Given the description of an element on the screen output the (x, y) to click on. 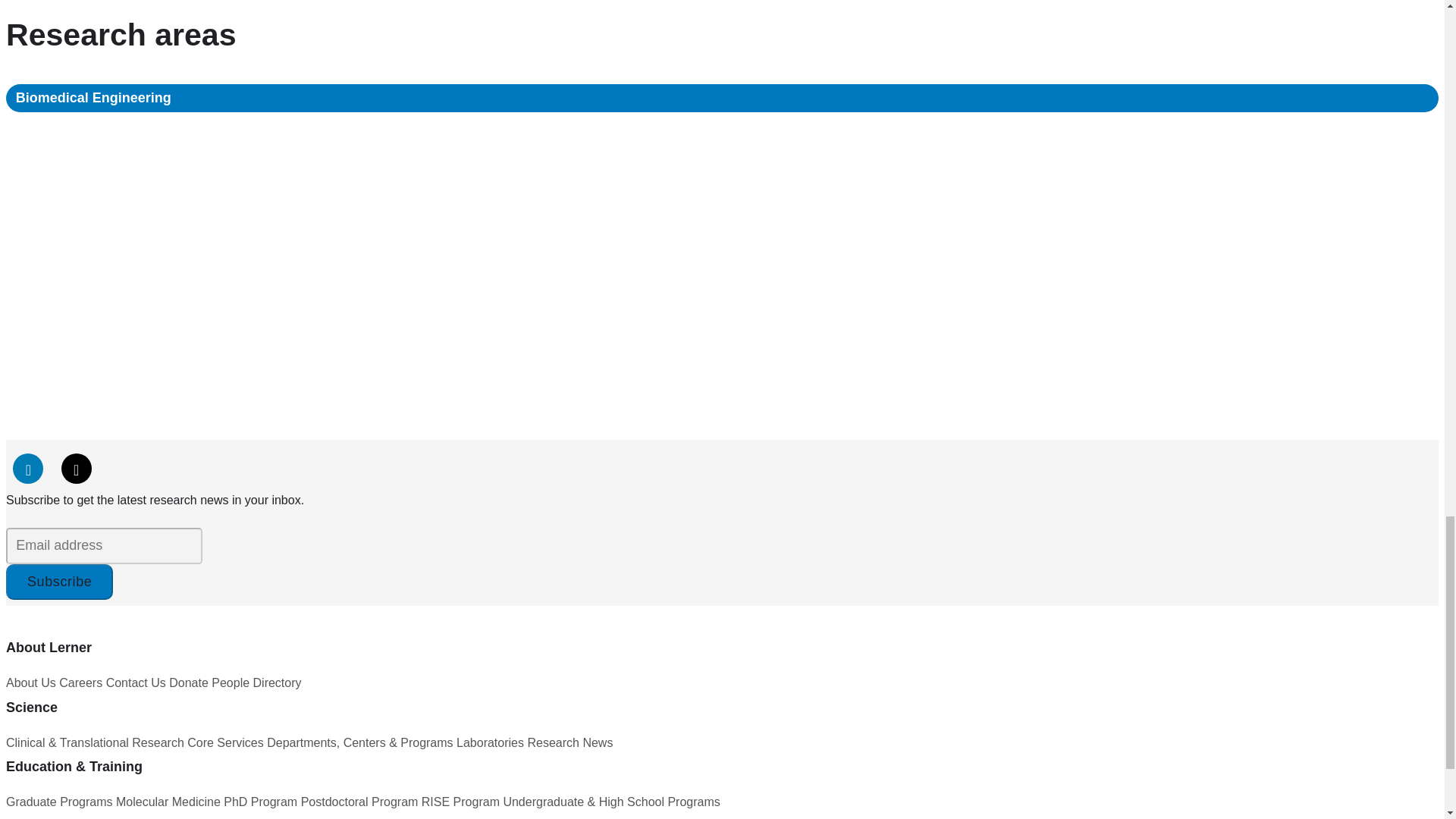
Twitter (76, 468)
LinkedIn (28, 468)
Subscribe (59, 582)
